Given the description of an element on the screen output the (x, y) to click on. 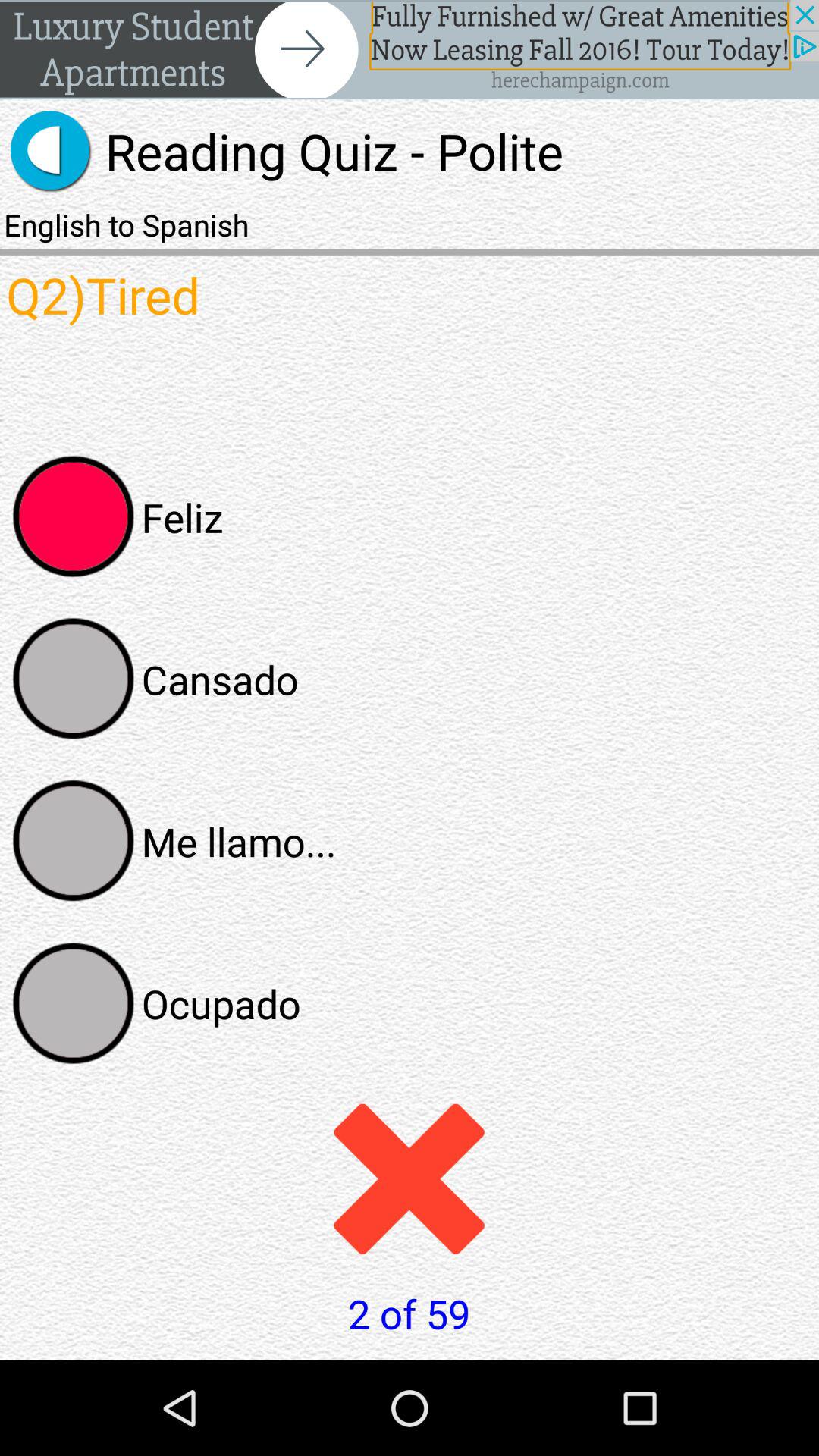
select the word (73, 1003)
